Given the description of an element on the screen output the (x, y) to click on. 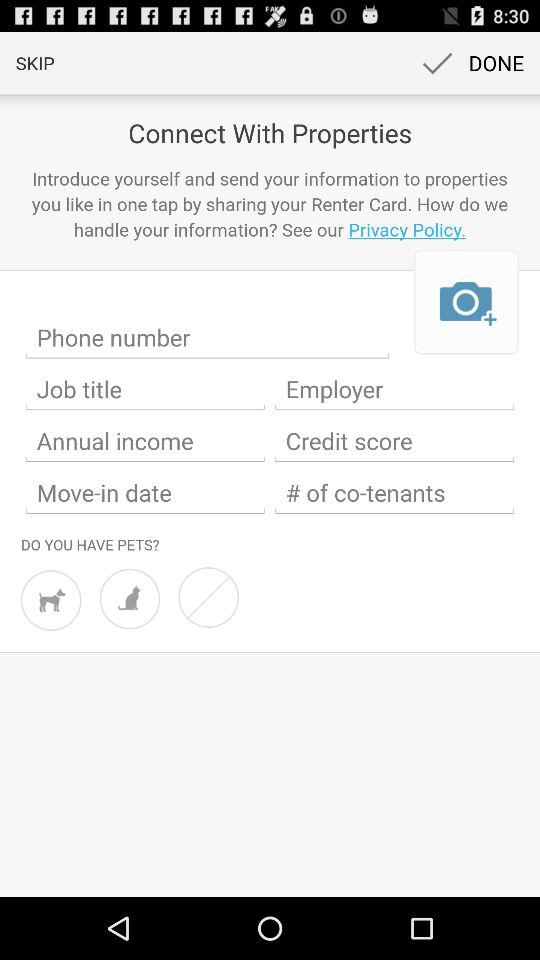
add employer (394, 389)
